Given the description of an element on the screen output the (x, y) to click on. 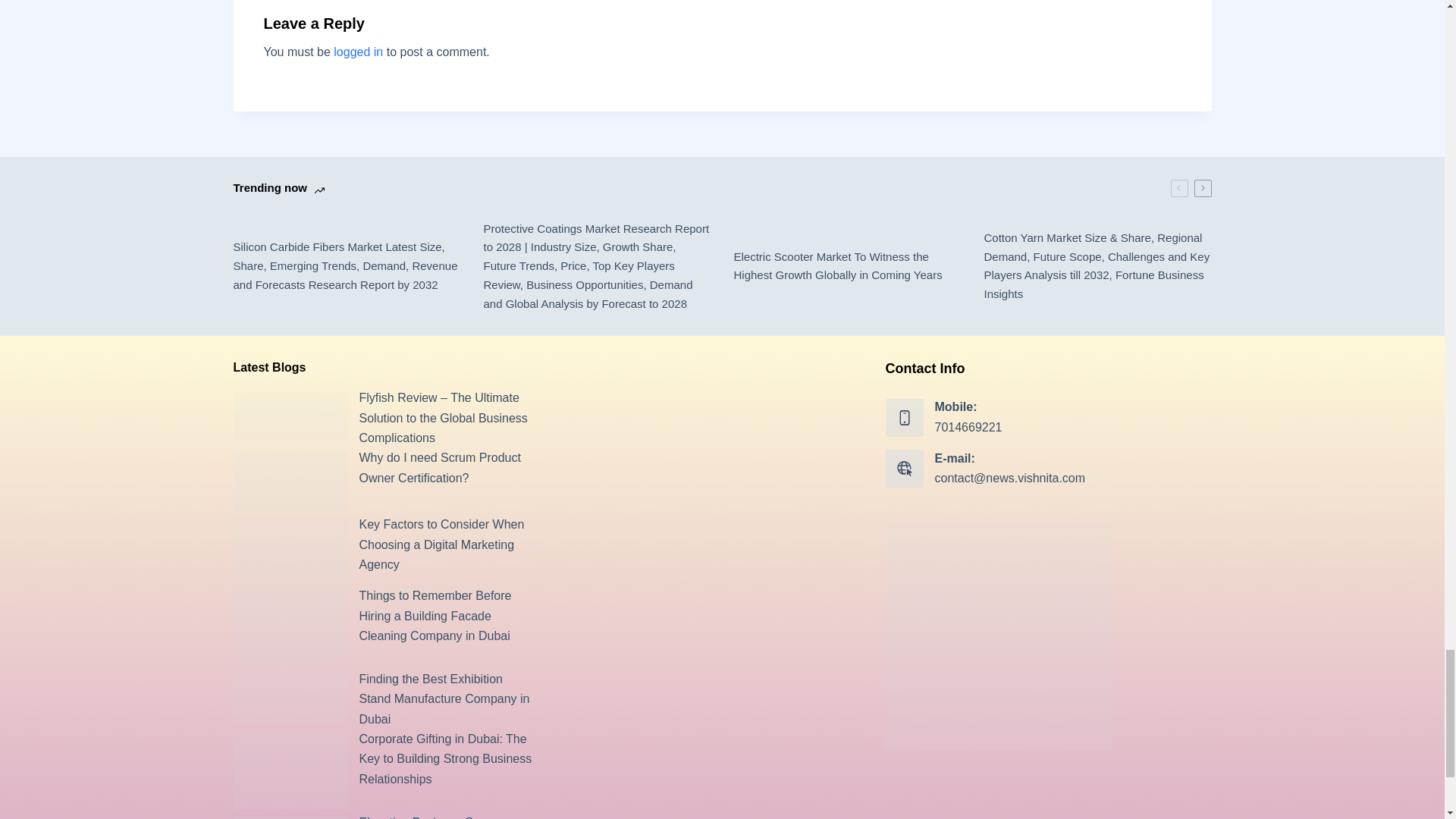
Why do I need Scrum Product Owner Certification? 9 (289, 481)
